Given the description of an element on the screen output the (x, y) to click on. 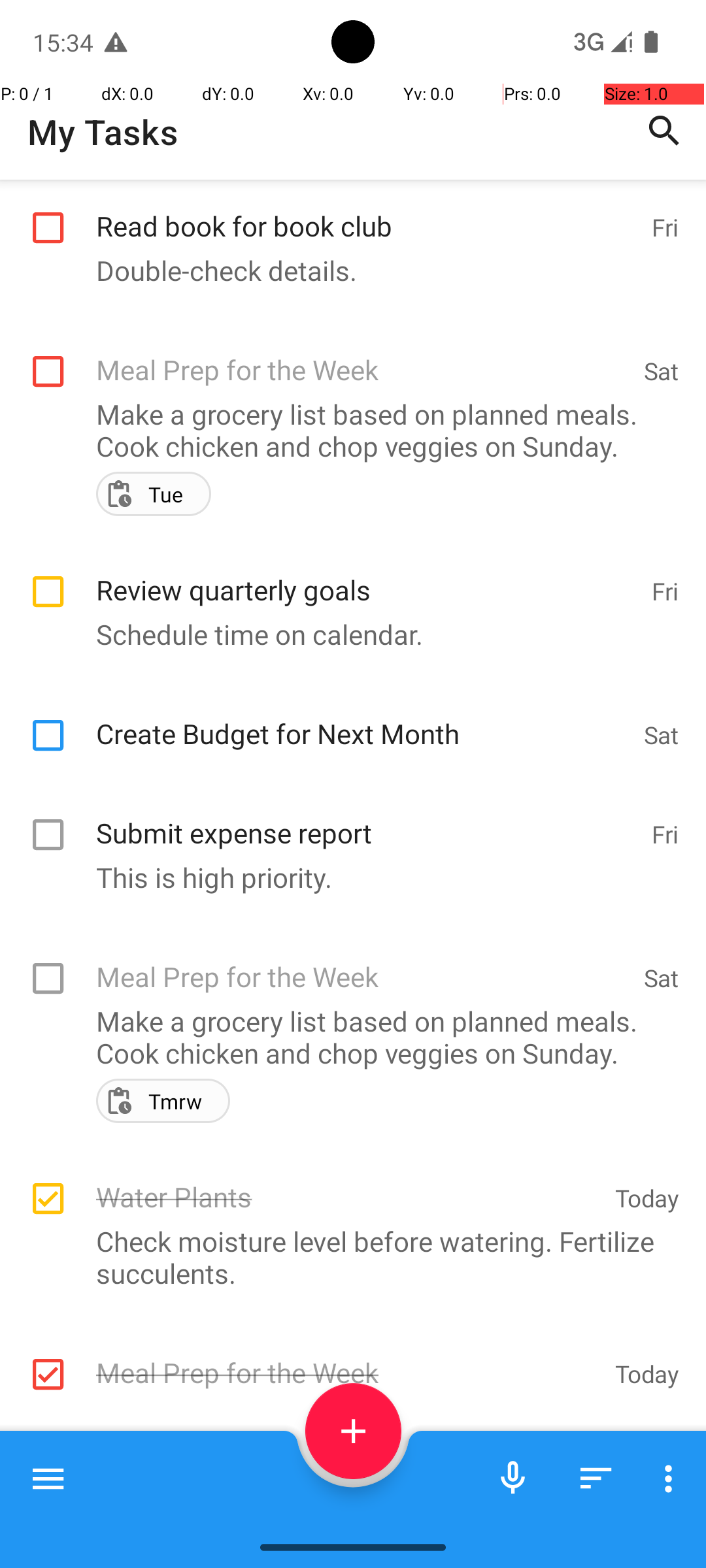
Read book for book club Element type: android.widget.TextView (367, 211)
Double-check details. Element type: android.widget.TextView (346, 269)
Make a grocery list based on planned meals. Cook chicken and chop veggies on Sunday. Element type: android.widget.TextView (346, 429)
Sat Element type: android.widget.TextView (661, 370)
Review quarterly goals Element type: android.widget.TextView (367, 575)
Schedule time on calendar. Element type: android.widget.TextView (346, 633)
Submit expense report Element type: android.widget.TextView (367, 818)
This is high priority. Element type: android.widget.TextView (346, 876)
Check moisture level before watering. Fertilize succulents. Element type: android.widget.TextView (346, 1256)
